Given the description of an element on the screen output the (x, y) to click on. 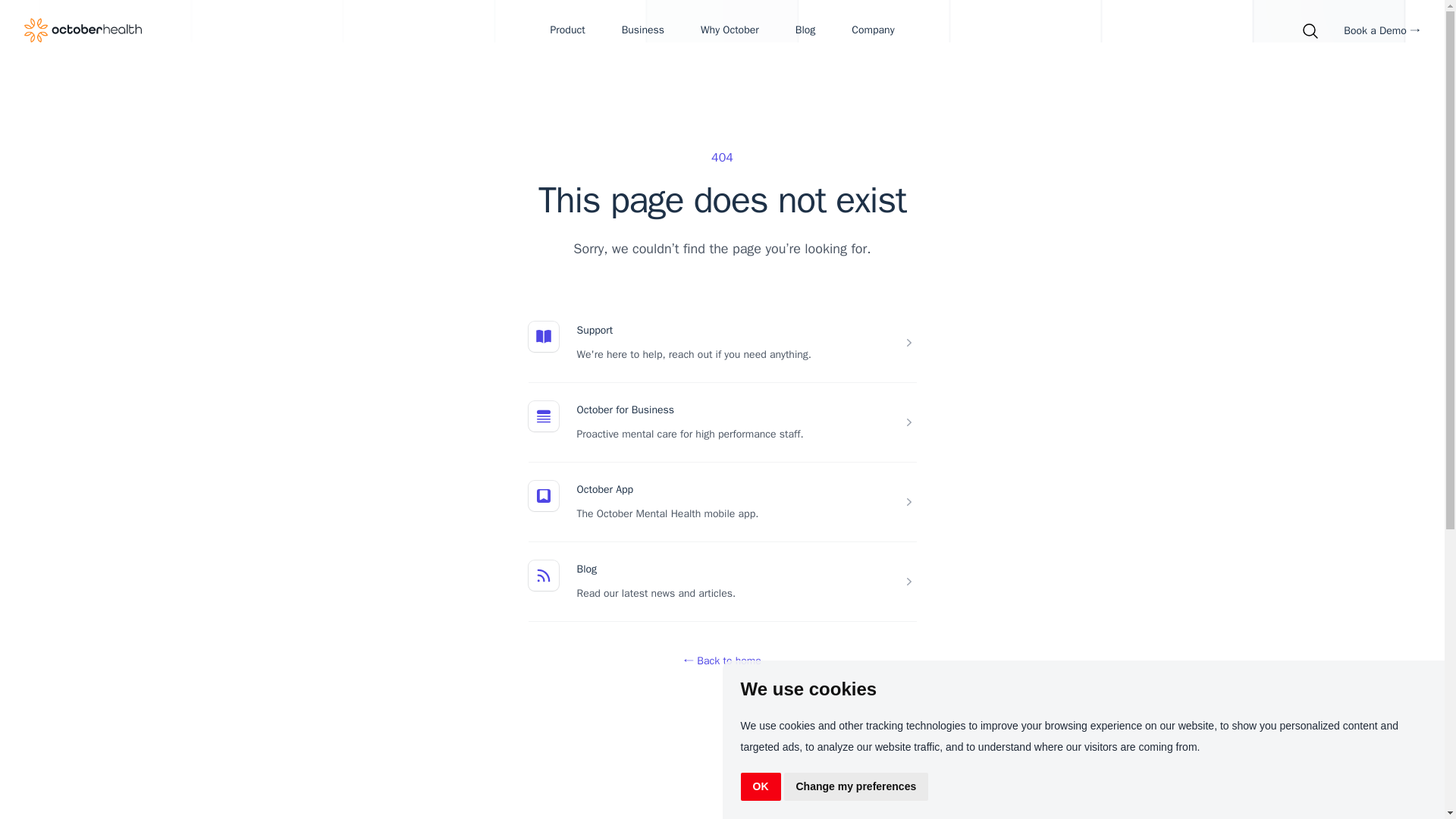
OK (759, 786)
Product (567, 30)
Business (642, 30)
October Health (83, 29)
Company (872, 30)
Change my preferences (856, 786)
Blog (804, 30)
Why October (729, 30)
